Given the description of an element on the screen output the (x, y) to click on. 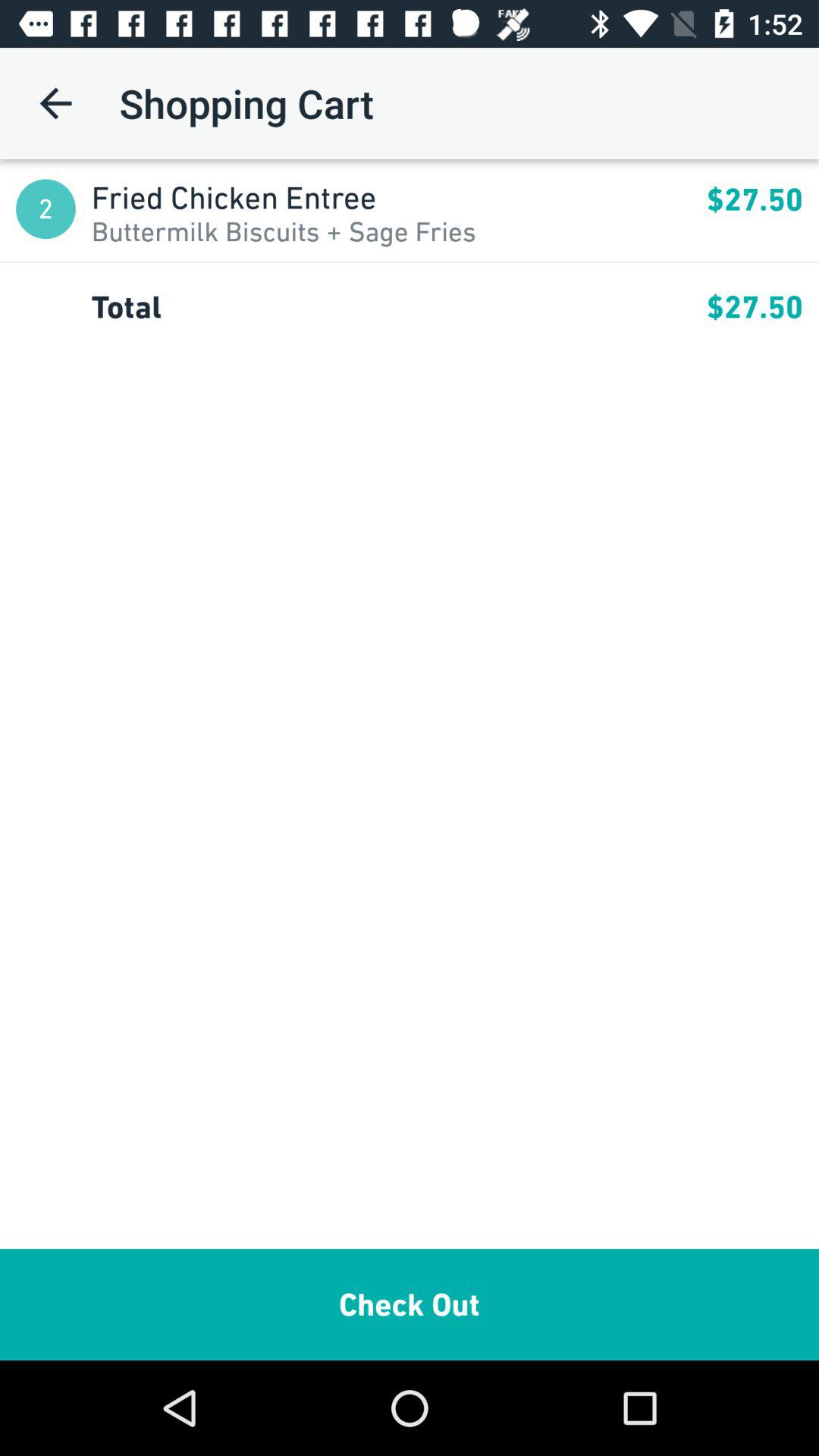
press the item next to $27.50 app (398, 197)
